Given the description of an element on the screen output the (x, y) to click on. 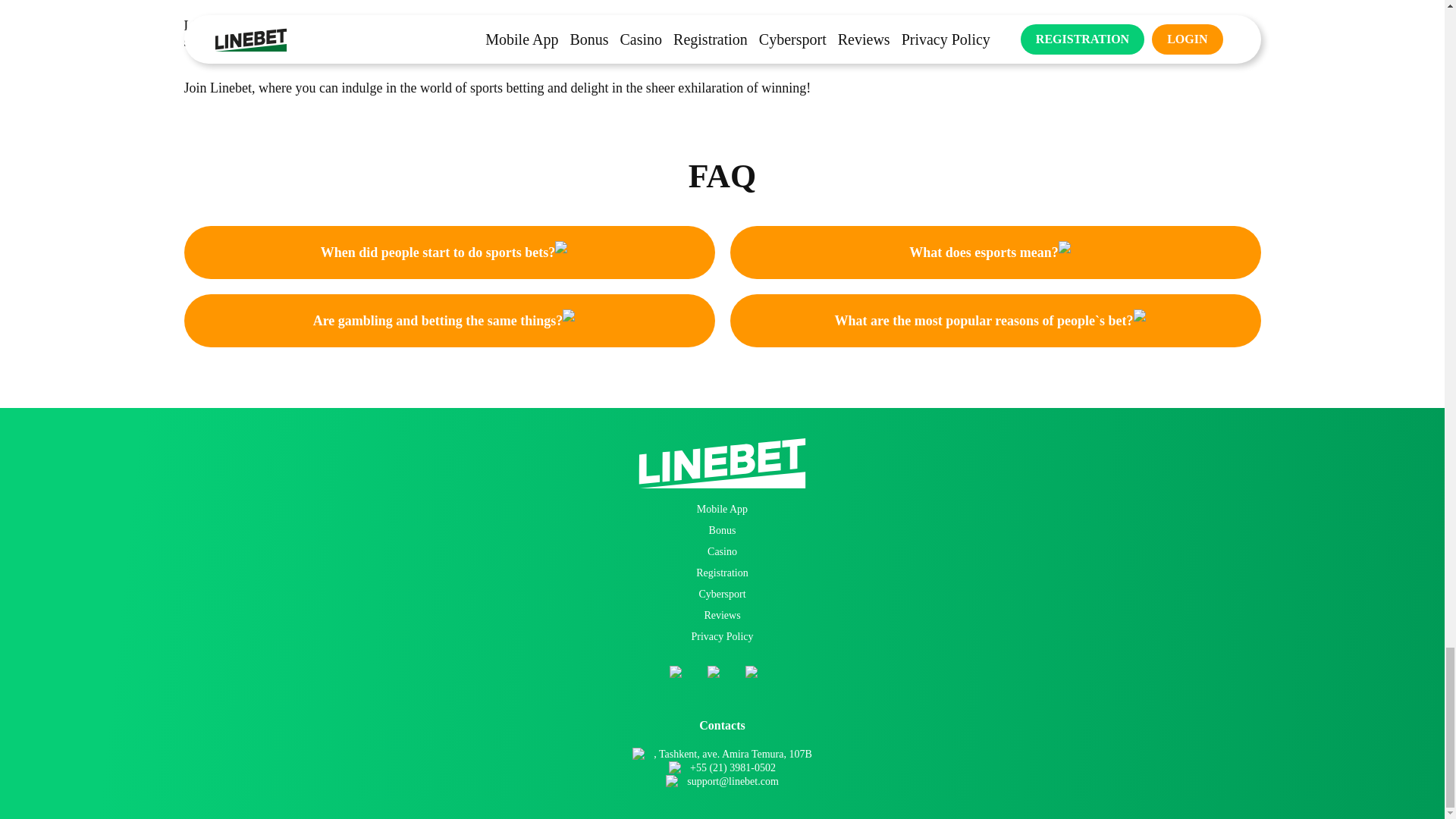
Reviews (721, 614)
, Tashkent, ave. Amira Temura, 107B (732, 754)
Mobile App (722, 509)
Registration (721, 572)
Casino (721, 551)
Bonus (722, 530)
Privacy Policy (721, 636)
